Given the description of an element on the screen output the (x, y) to click on. 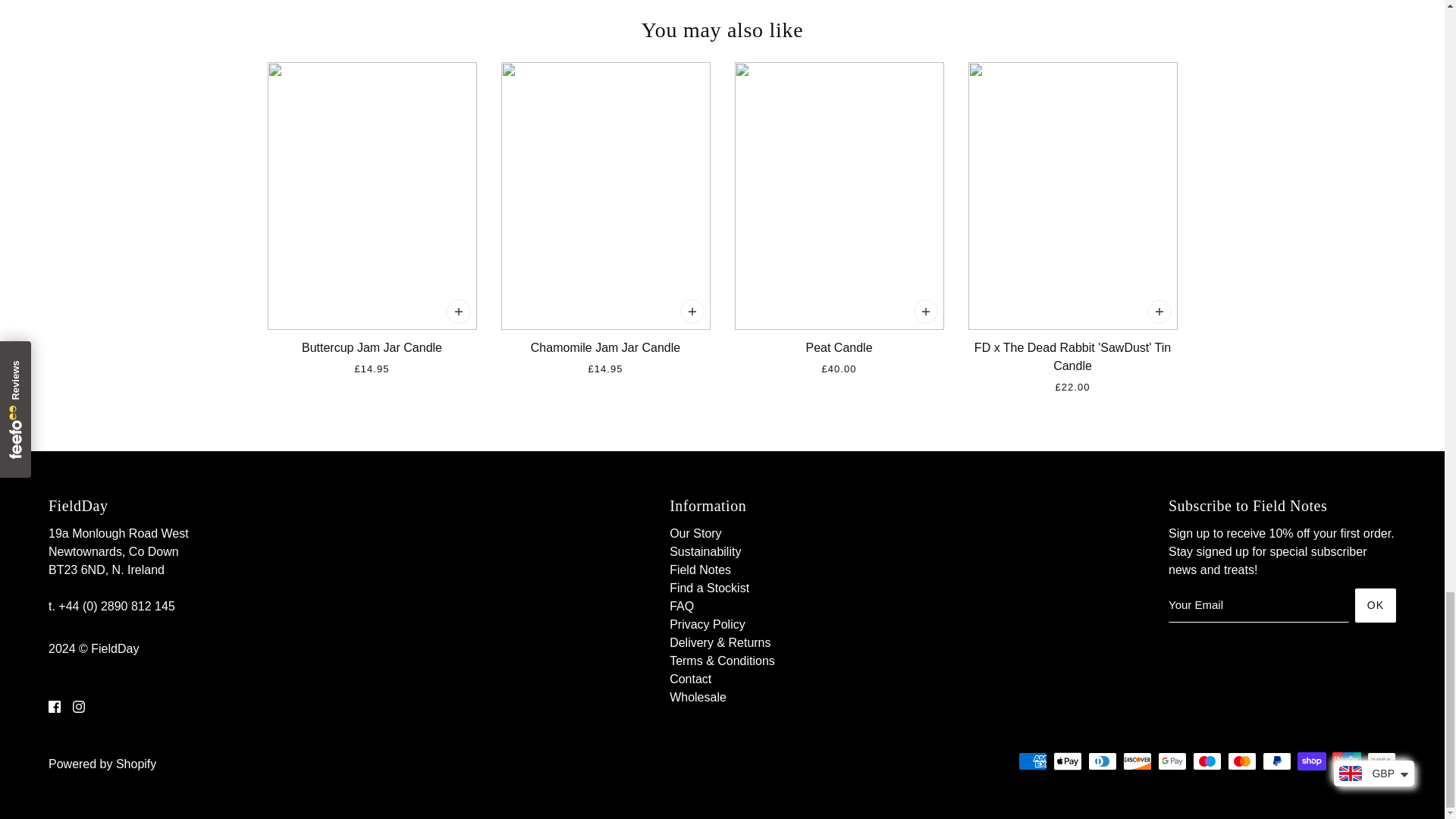
PayPal (1276, 761)
Find a Stockist (709, 587)
Contact (690, 678)
Field Notes (699, 569)
American Express (1031, 761)
Diners Club (1101, 761)
Apple Pay (1066, 761)
Maestro (1206, 761)
Wholesale (697, 697)
FAQ (681, 605)
Sustainability (705, 551)
Our Story (694, 533)
Discover (1136, 761)
Mastercard (1241, 761)
Google Pay (1171, 761)
